Given the description of an element on the screen output the (x, y) to click on. 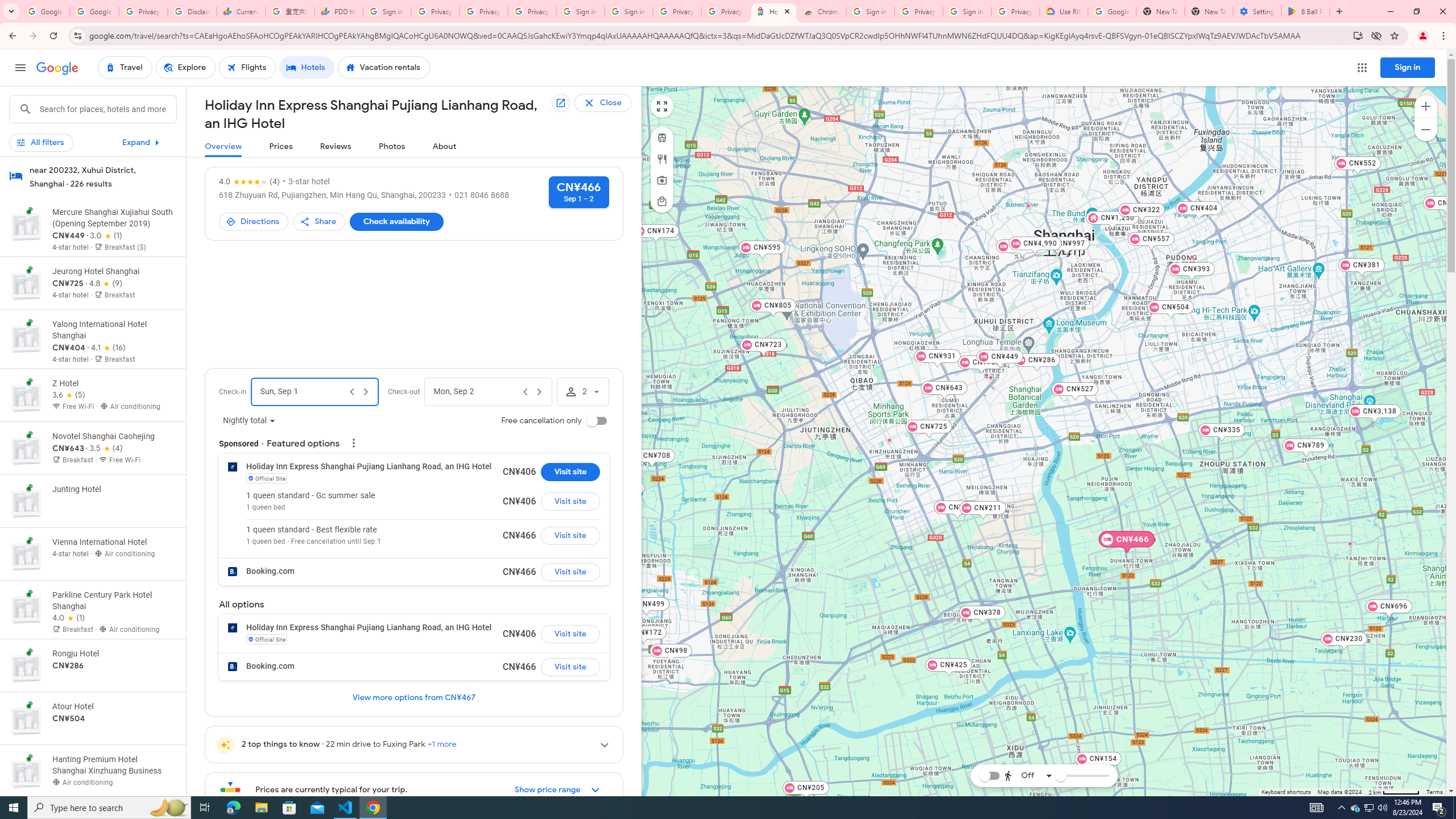
3.6 out of 5 stars from 5 reviews (68, 395)
Transit (661, 138)
Hotels (306, 67)
Junting Hotel (990, 377)
